Given the description of an element on the screen output the (x, y) to click on. 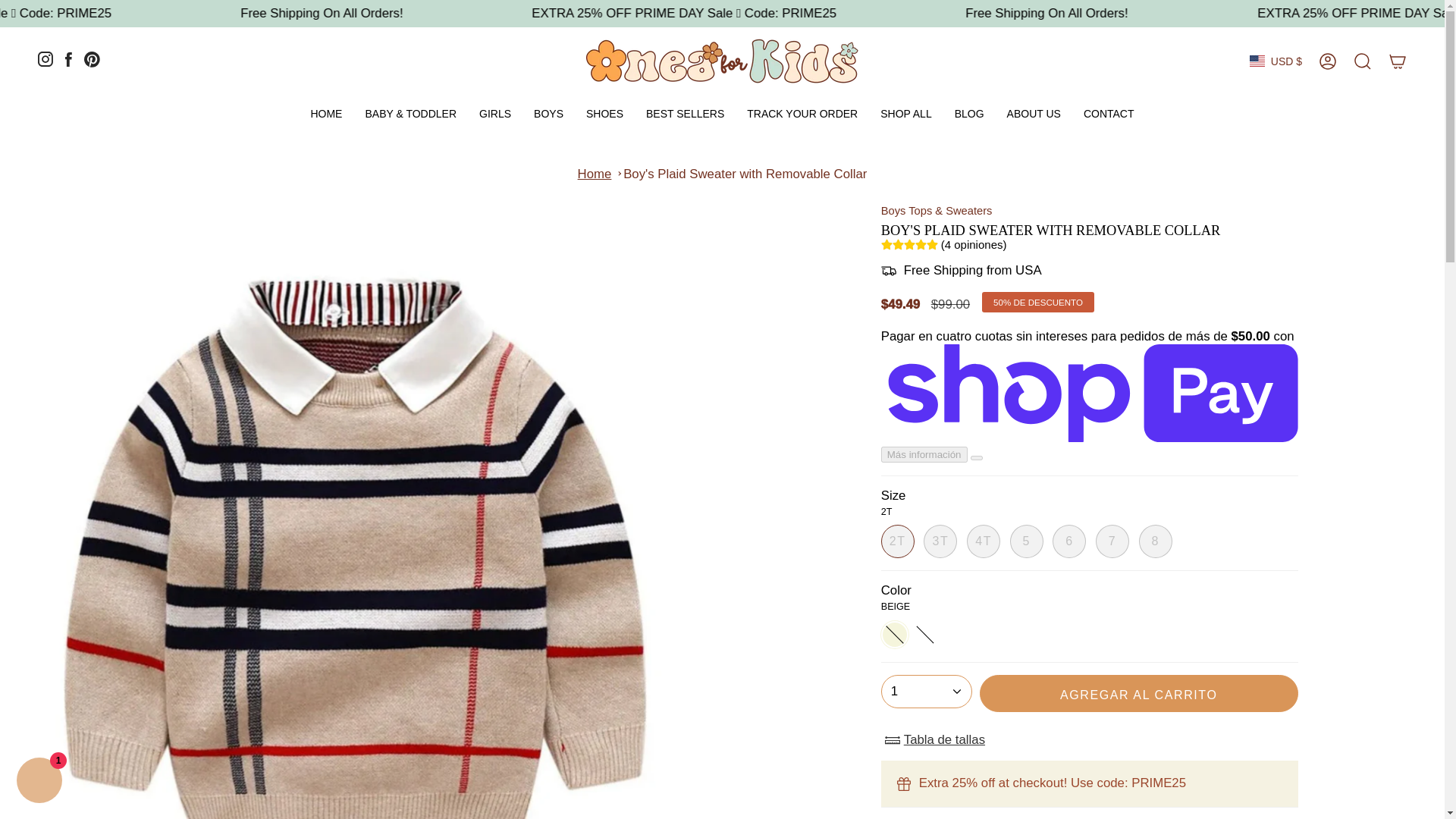
SHOP ALL (905, 113)
HOME (325, 113)
ABOUT US (1033, 113)
CARRITO (1397, 61)
BEST SELLERS (684, 113)
SHOES (604, 113)
ONEAKIDS en Pinterest (92, 63)
Pinterest (92, 63)
GIRLS (494, 113)
BLOG (969, 113)
TRACK YOUR ORDER (802, 113)
CUENTA (1327, 61)
Buscar en la tienda (1362, 61)
Mi cuenta (1327, 61)
ONEAKIDS en Instagram (44, 62)
